Given the description of an element on the screen output the (x, y) to click on. 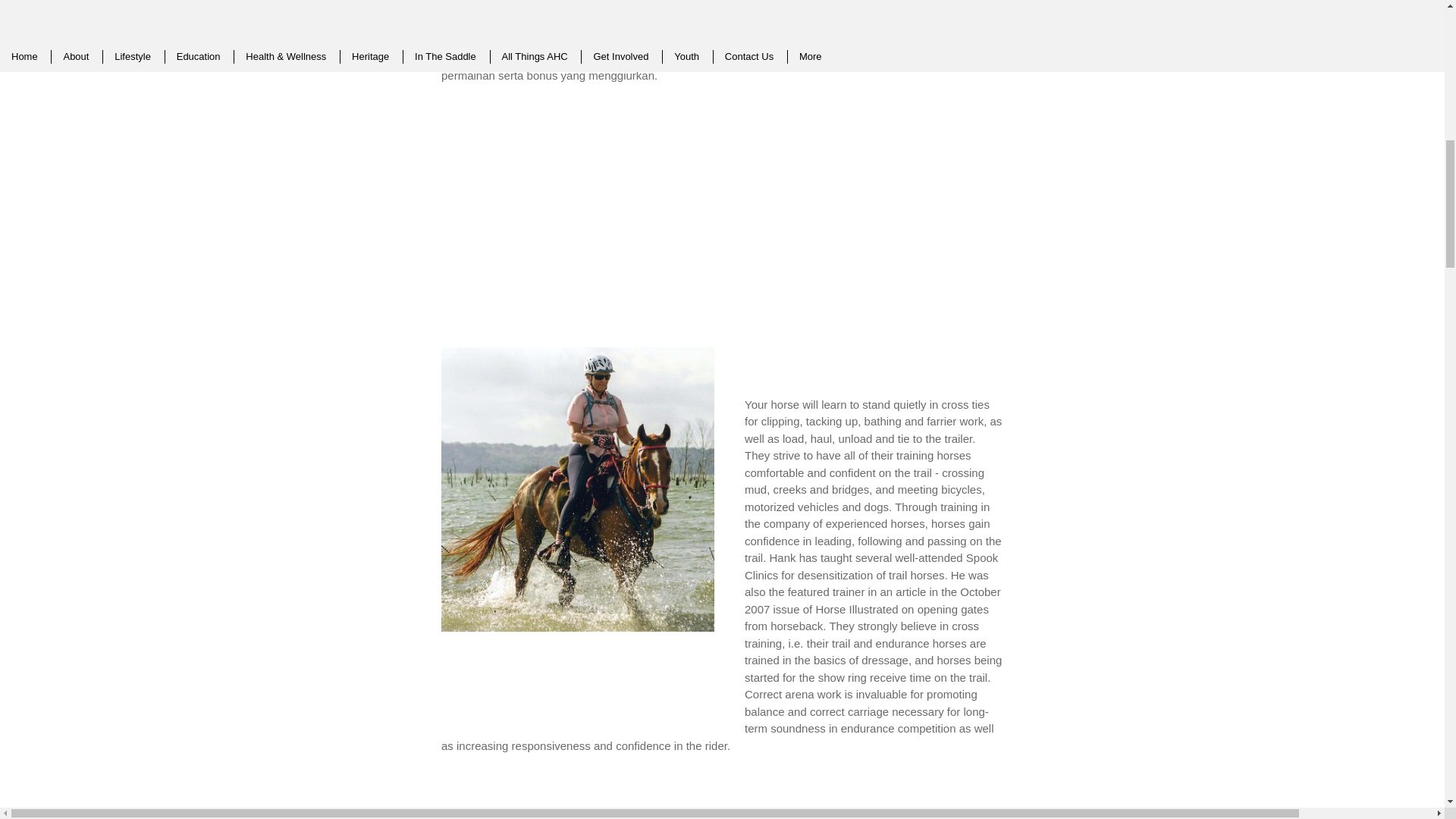
idn poker apk (756, 57)
